Given the description of an element on the screen output the (x, y) to click on. 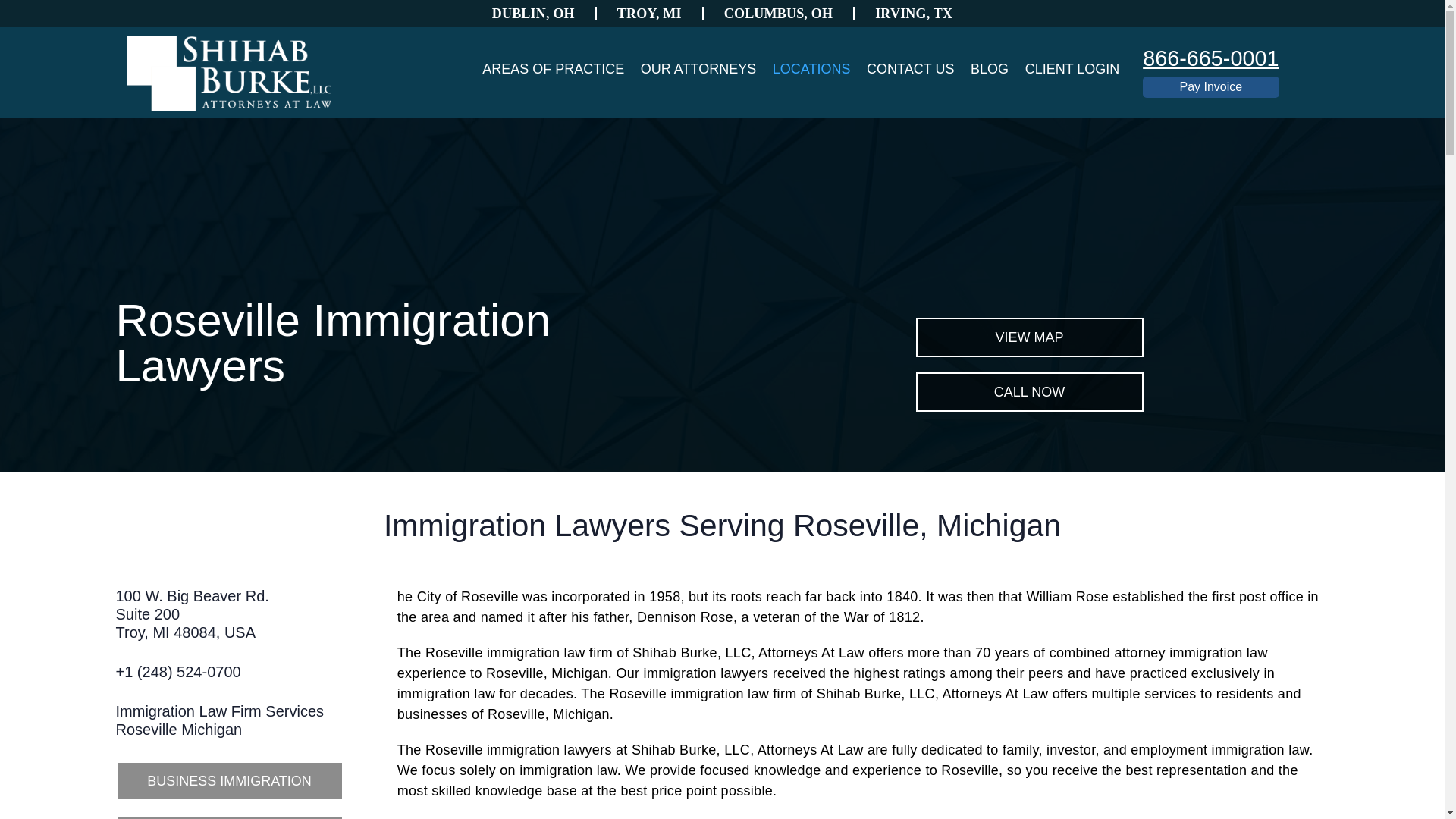
DUBLIN, OH (533, 13)
IRVING, TX (913, 13)
BLOG (989, 68)
COLUMBUS, OH (778, 13)
LOCATIONS (191, 614)
WORK VISAS (811, 68)
CALL NOW (228, 817)
VIEW MAP (219, 719)
866-665-0001 (1028, 391)
TROY, MI (1028, 337)
Pay Invoice (1210, 58)
OUR ATTORNEYS (649, 13)
AREAS OF PRACTICE (1210, 87)
